Given the description of an element on the screen output the (x, y) to click on. 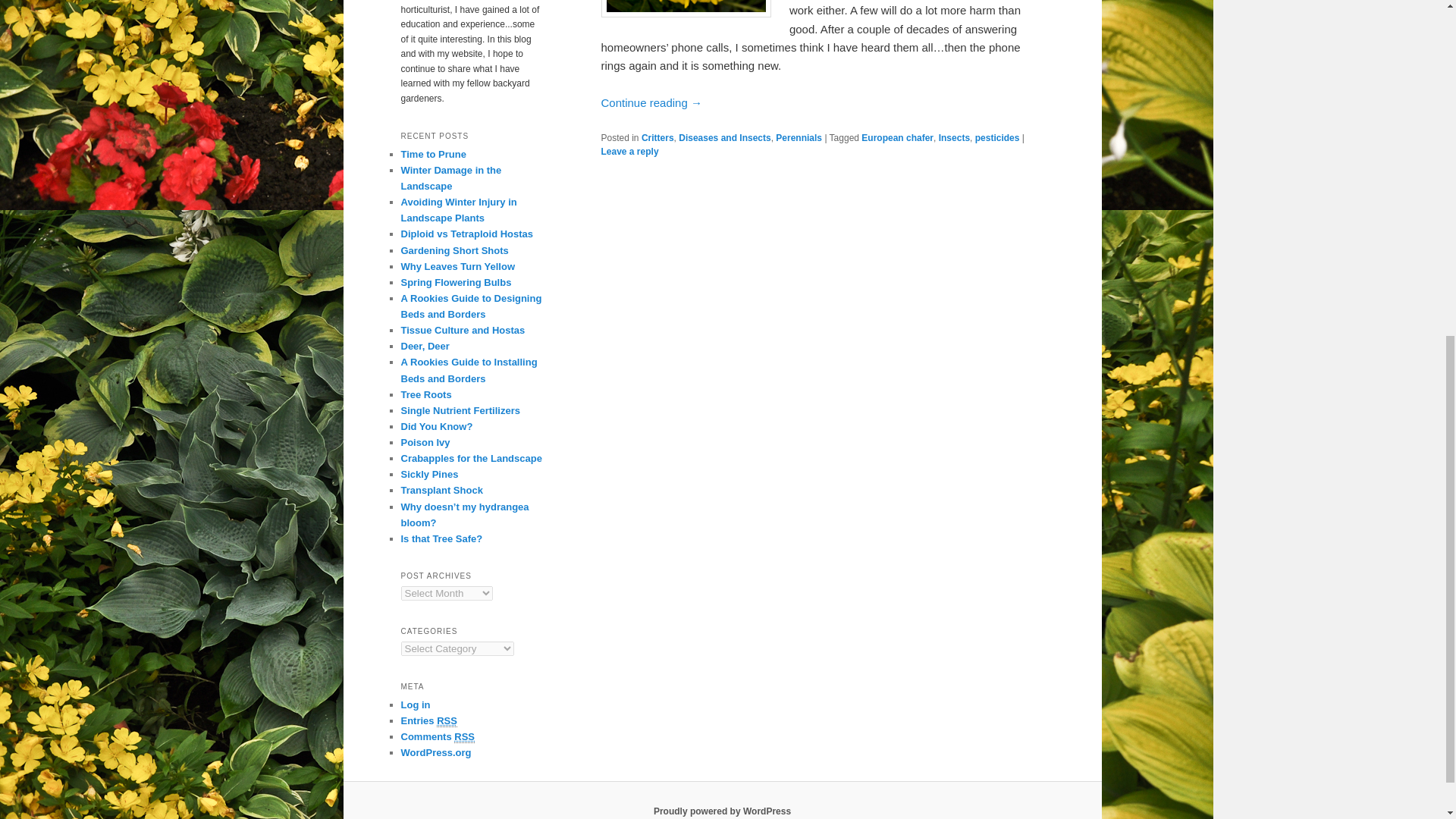
Diseases and Insects (724, 137)
Diploid vs Tetraploid Hostas (466, 233)
Gardening Short Shots (454, 250)
A Rookies Guide to Designing Beds and Borders (470, 306)
A Rookies Guide to Installing Beds and Borders (468, 370)
Time to Prune (432, 153)
Avoiding Winter Injury in Landscape Plants (458, 209)
PGC-A-Tagete-Taishan-Yellow-1-2010 (684, 8)
Deer, Deer (424, 346)
View all posts in Diseases and Insects (724, 137)
Avoiding Winter Injury in Landscape Plants (458, 209)
Winter Damage in the Landscape (450, 177)
Diploid vs Tetraploid Hostas (466, 233)
View all posts in Perennials (799, 137)
Leave a reply (628, 151)
